Given the description of an element on the screen output the (x, y) to click on. 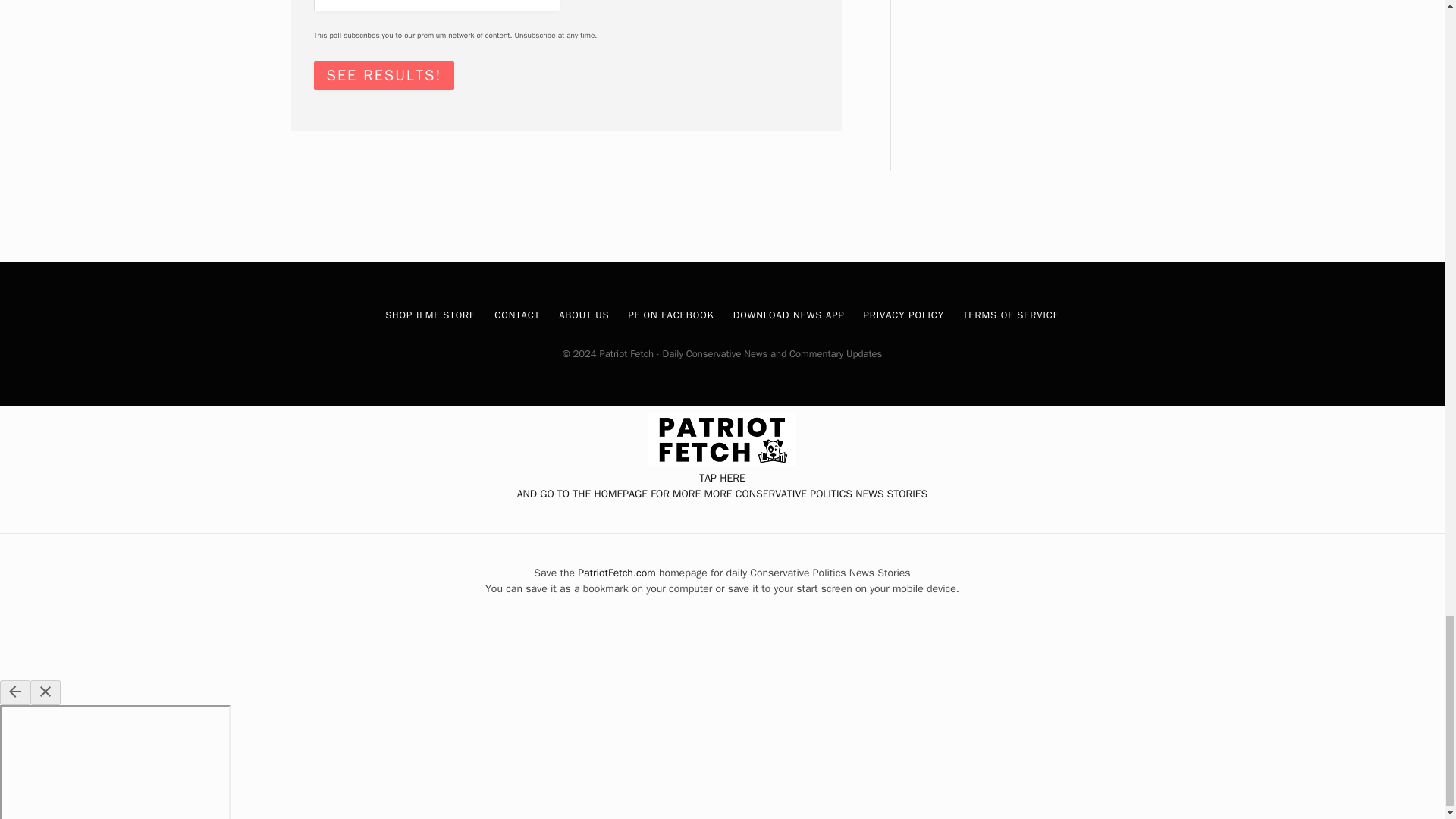
See Results! (384, 75)
See Results! (384, 75)
